Given the description of an element on the screen output the (x, y) to click on. 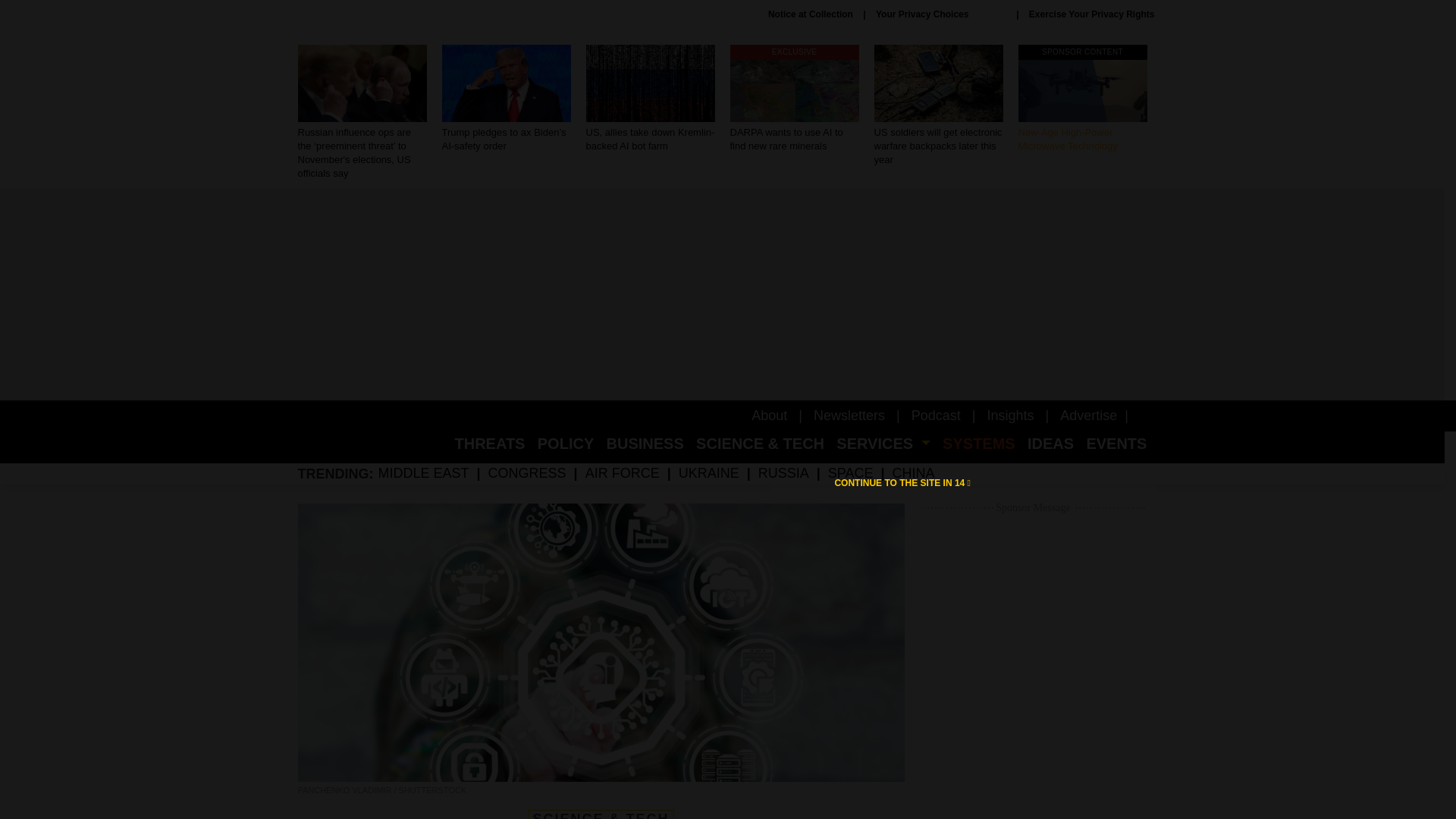
Your Privacy Choices (941, 14)
3rd party ad content (1032, 668)
Exercise Your Privacy Rights (1082, 99)
Notice at Collection (794, 99)
3rd party ad content (1091, 14)
Advertise (810, 14)
About (1087, 415)
3rd party ad content (1010, 415)
Newsletters (769, 415)
CONTINUE TO THE SITE IN 14 (849, 415)
